Given the description of an element on the screen output the (x, y) to click on. 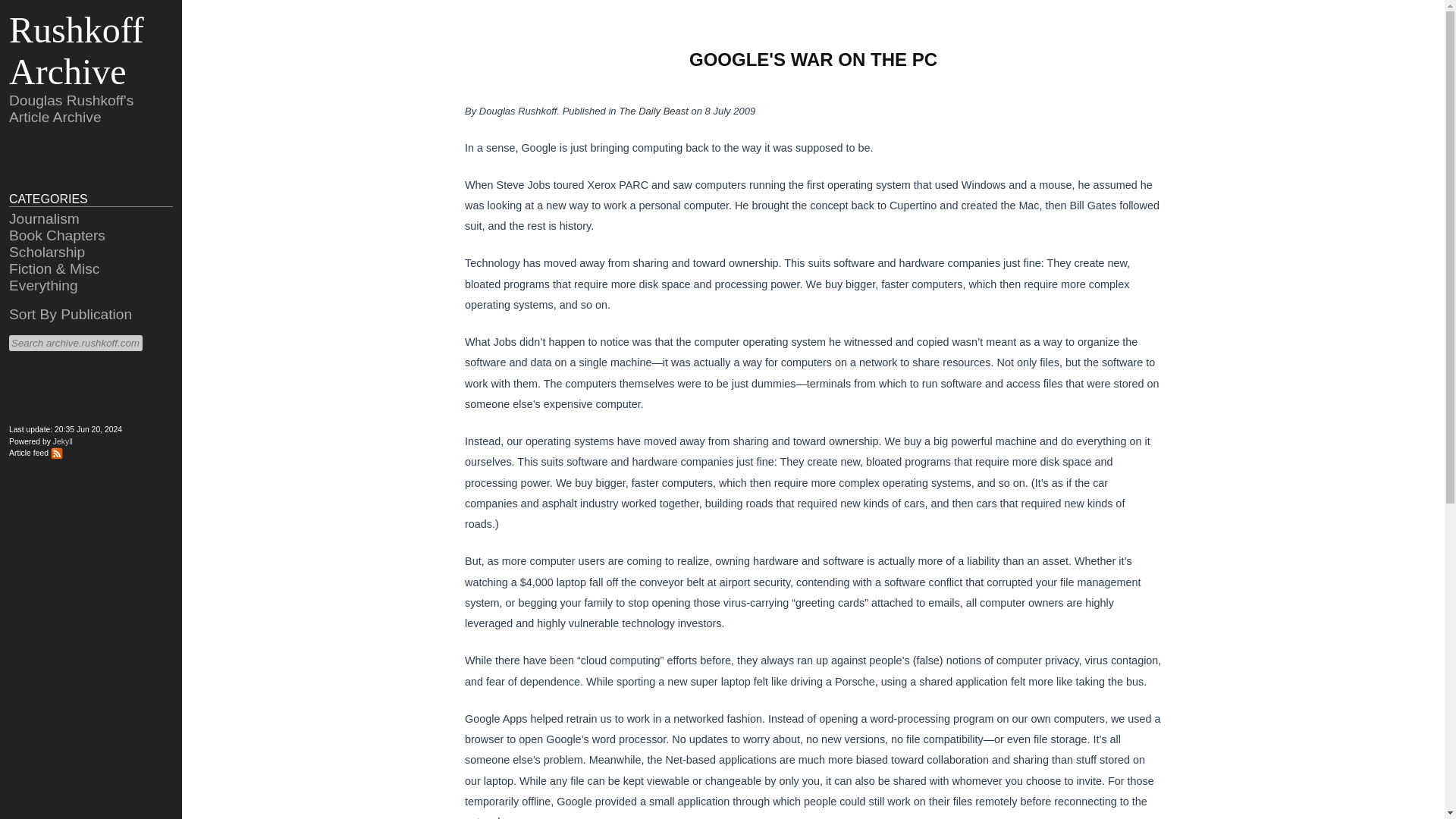
Journalism (44, 218)
Book Chapters (56, 235)
Jekyll (62, 441)
Everything (43, 285)
The Daily Beast (653, 111)
Scholarship (46, 252)
Sort By Publication (70, 314)
Rushkoff Archive (76, 50)
